Given the description of an element on the screen output the (x, y) to click on. 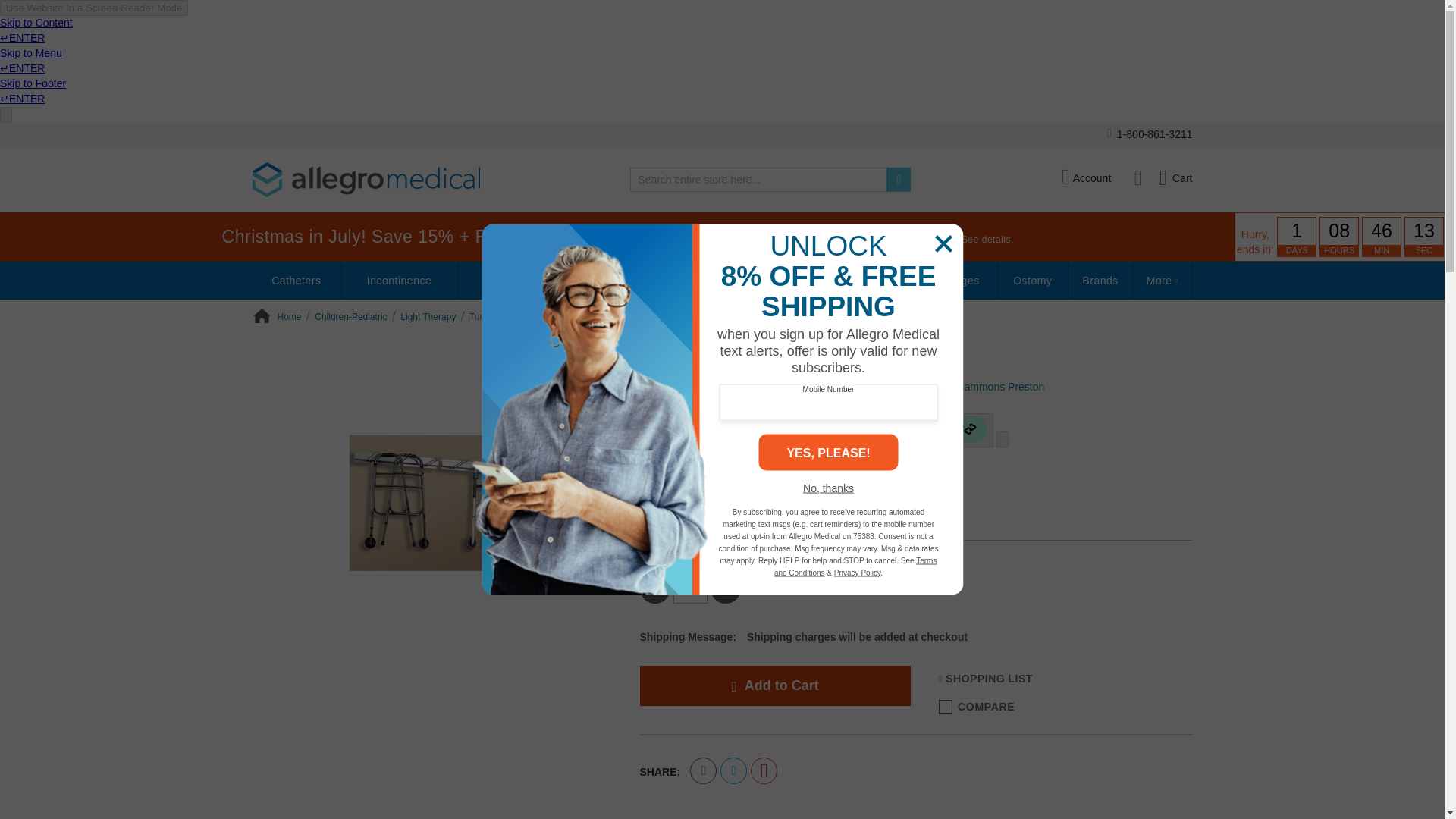
Phone Number (1149, 134)
Catheters (295, 280)
1 (689, 588)
Catheters (295, 280)
Cart (1175, 178)
Search (898, 179)
Allegro Medical Supplies Store (365, 179)
1-800-861-3211 (1149, 134)
Search (898, 179)
Minicart item (1175, 178)
